Given the description of an element on the screen output the (x, y) to click on. 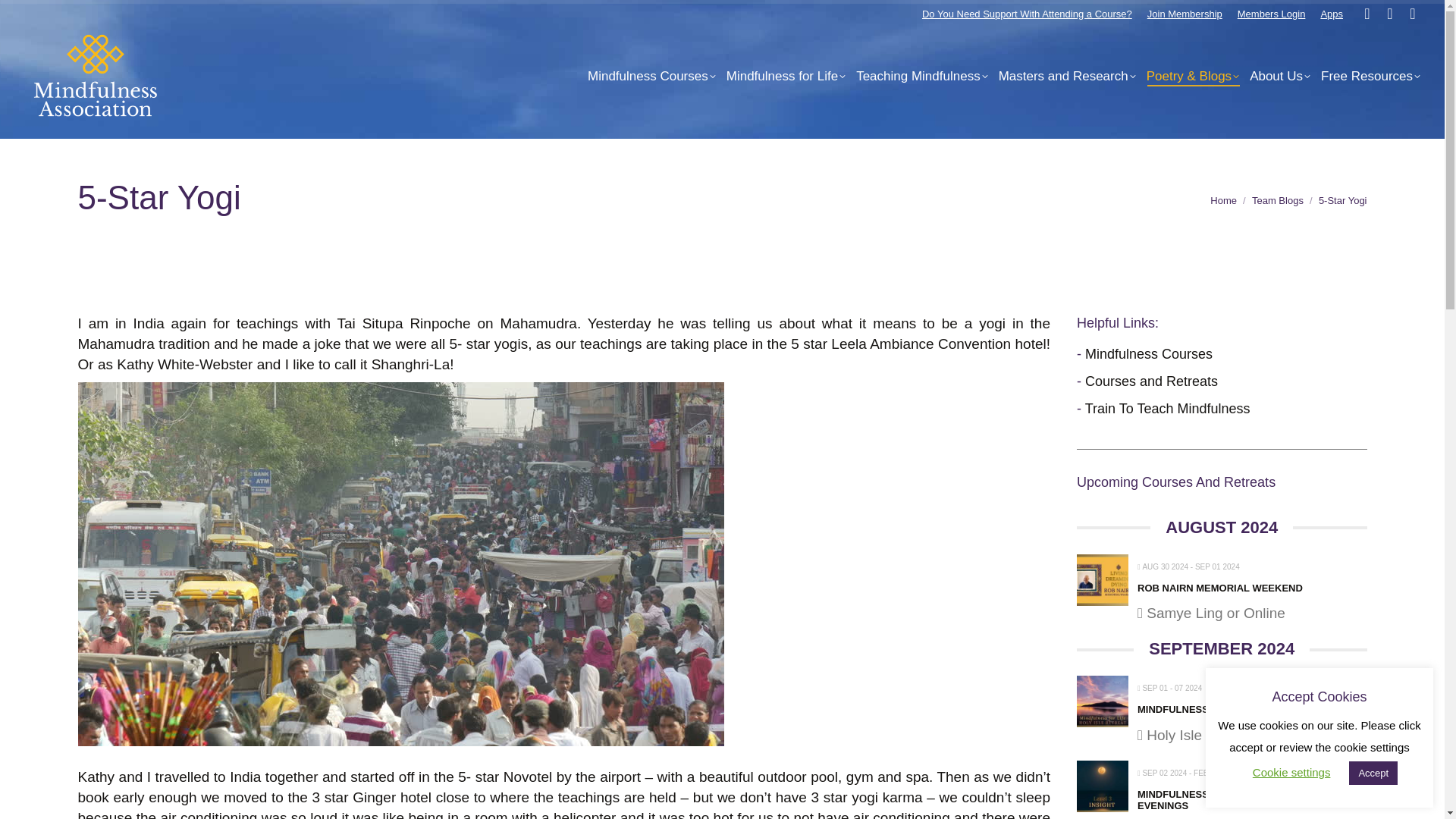
Mindfulness for Life (786, 76)
Instagram page opens in new window (1412, 13)
Home (1222, 200)
Members Login (1271, 12)
X page opens in new window (1389, 13)
Facebook page opens in new window (1366, 13)
X page opens in new window (1389, 13)
Do You Need Support With Attending a Course? (1026, 12)
Mindfulness Courses (651, 76)
Team Blogs (1277, 200)
